Given the description of an element on the screen output the (x, y) to click on. 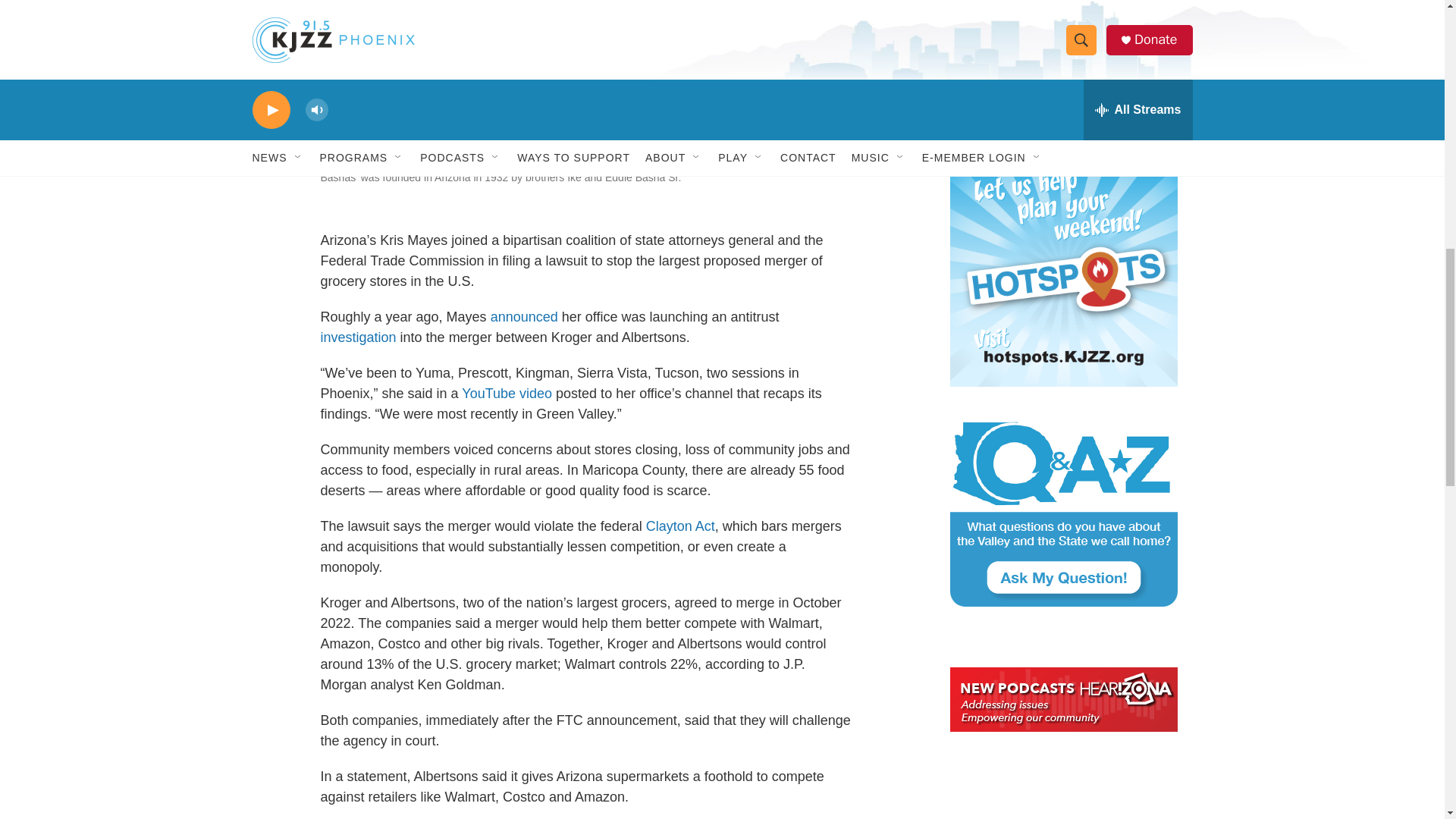
Subscribe to our newsletters (1062, 64)
